Given the description of an element on the screen output the (x, y) to click on. 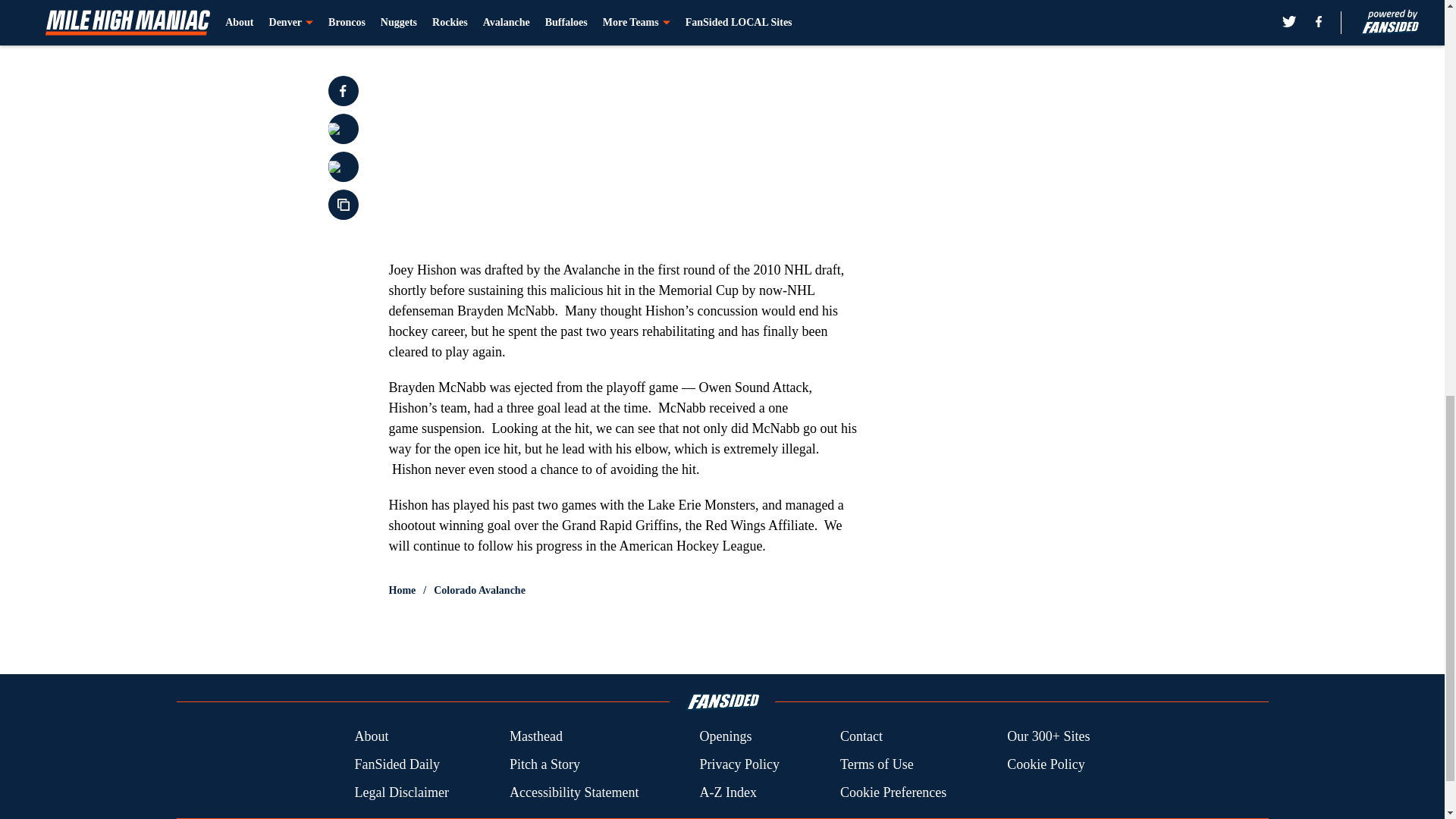
Pitch a Story (544, 764)
Masthead (535, 736)
Openings (724, 736)
Privacy Policy (738, 764)
Accessibility Statement (574, 792)
Terms of Use (877, 764)
Cookie Policy (1045, 764)
Legal Disclaimer (400, 792)
Home (401, 590)
Colorado Avalanche (479, 590)
